Given the description of an element on the screen output the (x, y) to click on. 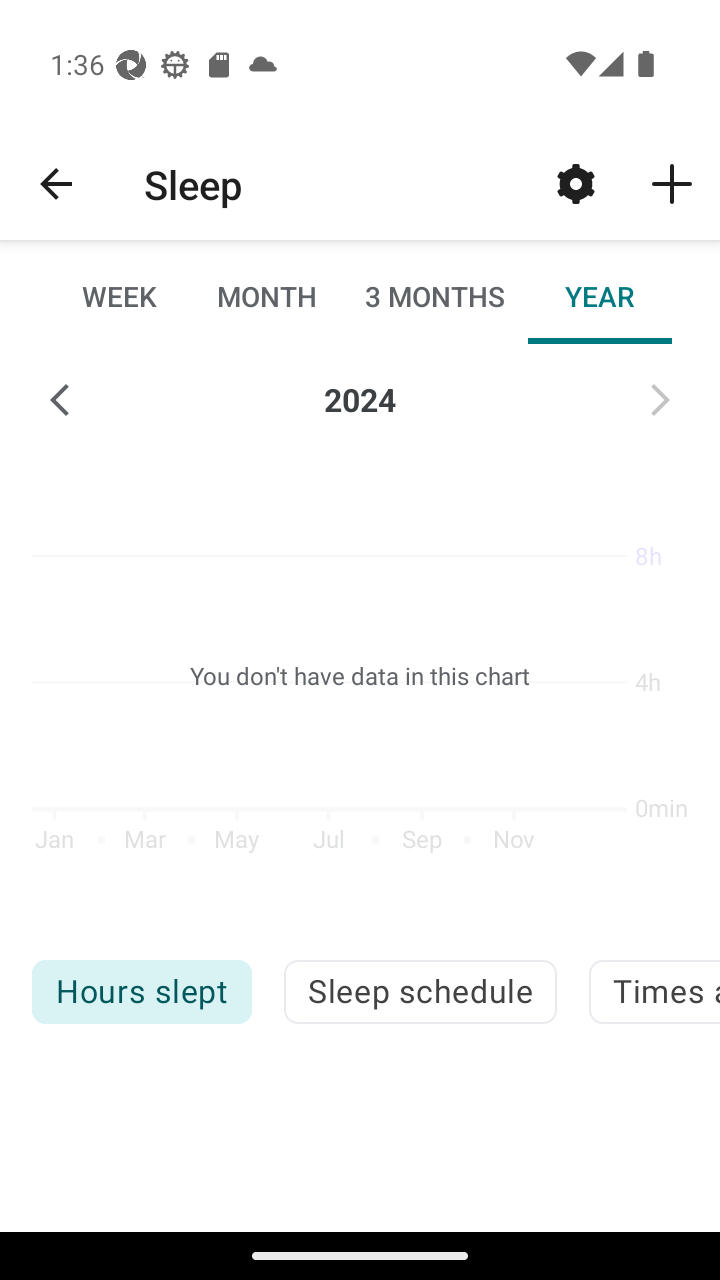
Navigate up (56, 184)
Adjust your goal (575, 183)
Tap to track sleep or
 log a past record (672, 183)
WEEK (120, 296)
MONTH (265, 296)
3 MONTHS (433, 296)
Previous (60, 399)
Next (659, 399)
Hours slept (141, 991)
Sleep schedule (420, 991)
Times awakened (654, 991)
